Given the description of an element on the screen output the (x, y) to click on. 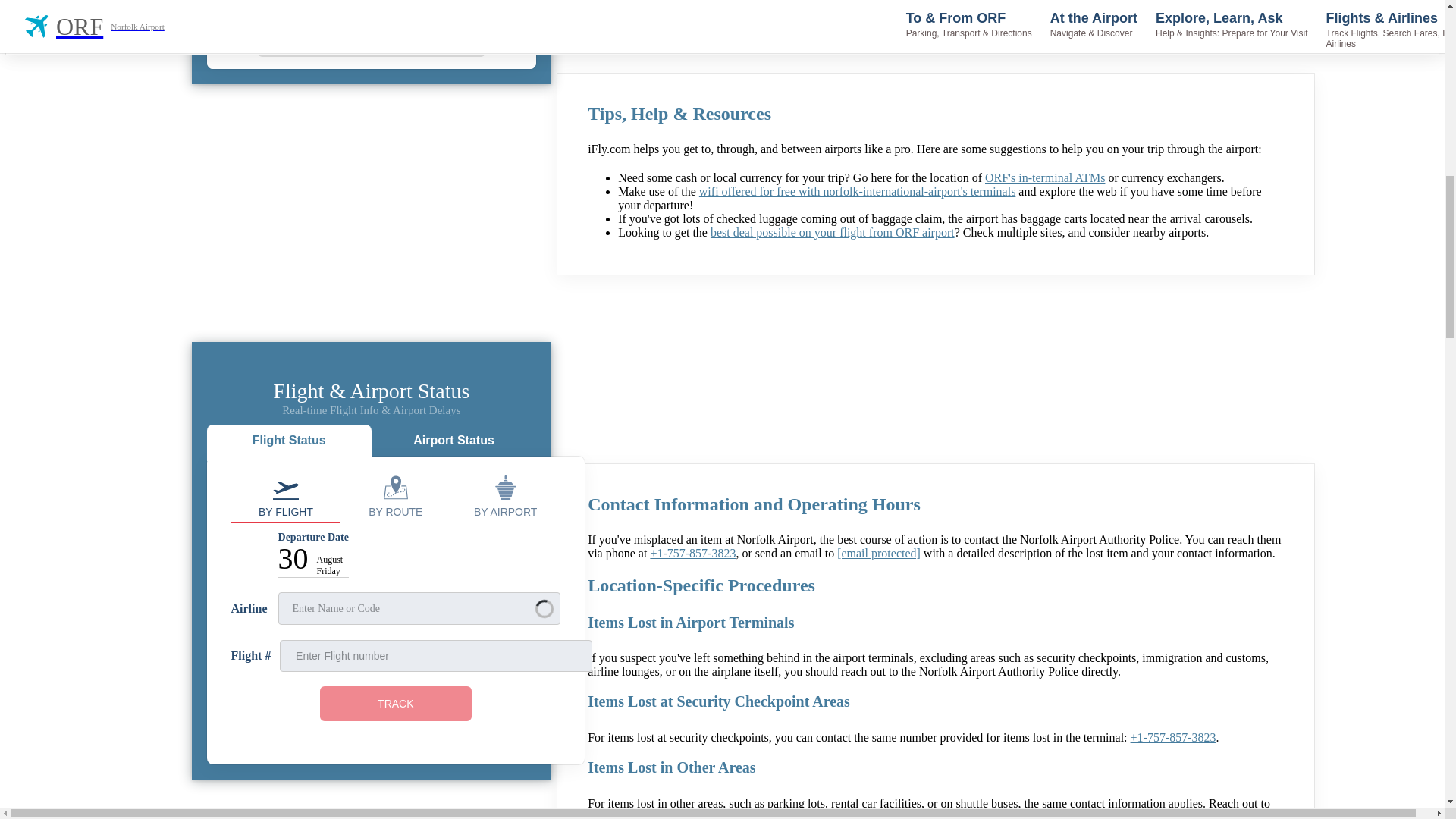
By Route (394, 495)
Flight Status (288, 443)
By Flight (285, 495)
Airport Status (453, 443)
By Airport (504, 495)
